Given the description of an element on the screen output the (x, y) to click on. 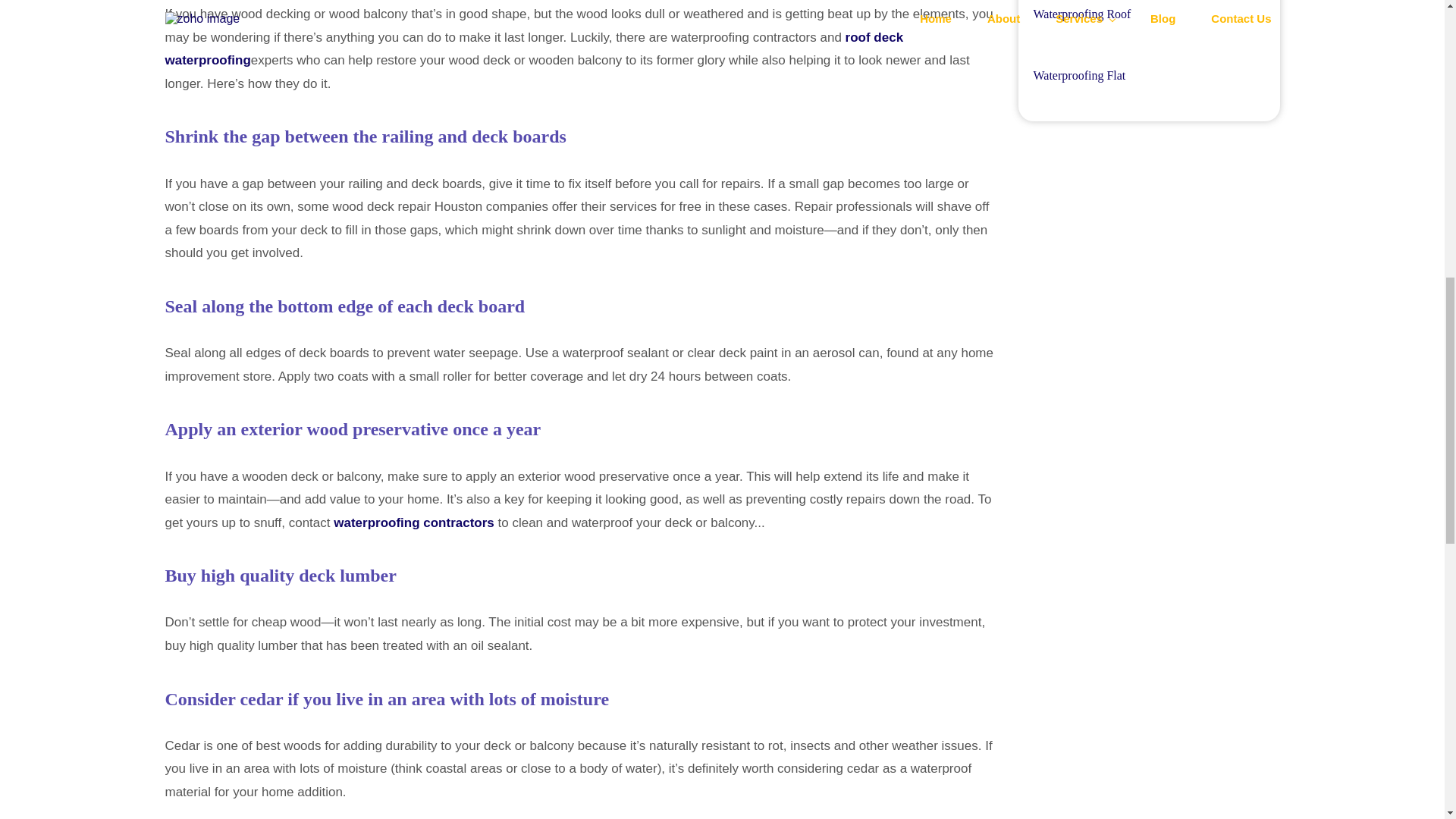
Waterproofing Flat (1078, 74)
Waterproofing Flat (1078, 74)
roof deck waterproofing (534, 48)
Waterproofing Roof (1081, 13)
Waterproofing Roof (1081, 13)
roof deck waterproofing (534, 48)
waterproofing contractors (414, 522)
waterproofing contractors (414, 522)
